Given the description of an element on the screen output the (x, y) to click on. 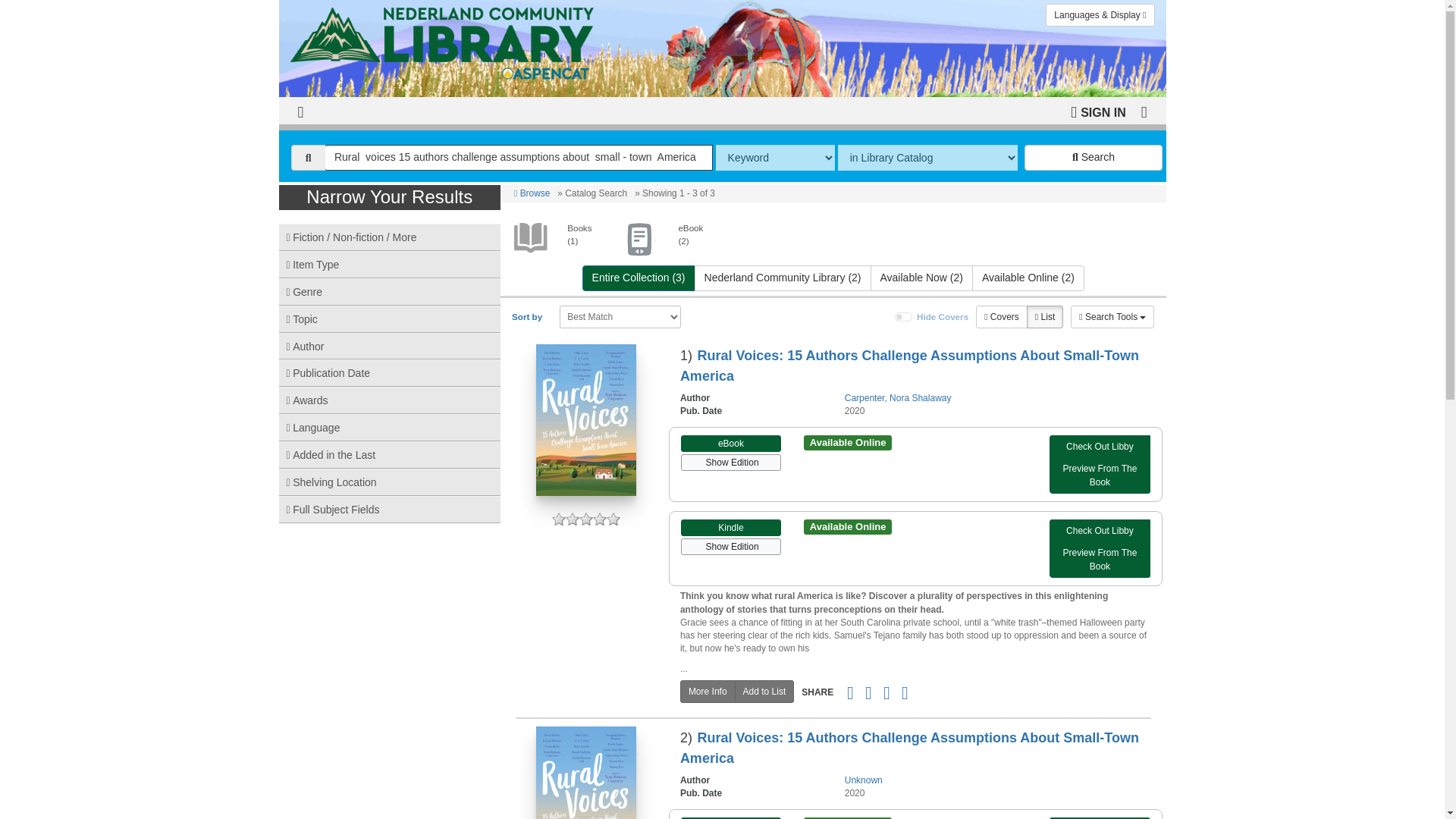
Browse (531, 193)
 Search (1093, 157)
Login (1098, 110)
The method of searching. (775, 157)
on (903, 316)
Browse the catalog (531, 193)
Return to Catalog Home (444, 43)
Covers (1001, 316)
SIGN IN (1098, 110)
Lists (1044, 316)
Share via email (850, 692)
